Given the description of an element on the screen output the (x, y) to click on. 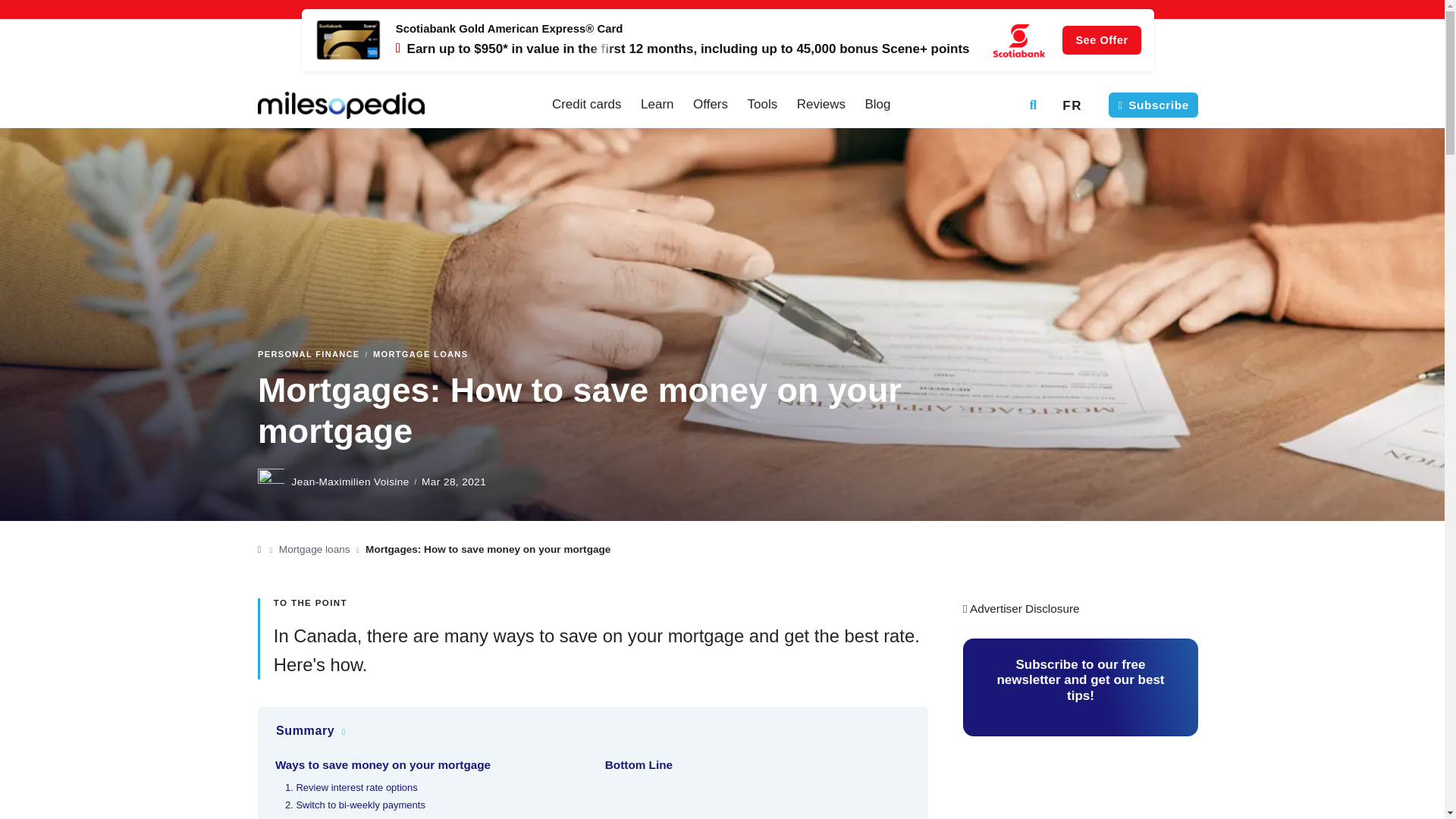
See Offer (727, 40)
